Given the description of an element on the screen output the (x, y) to click on. 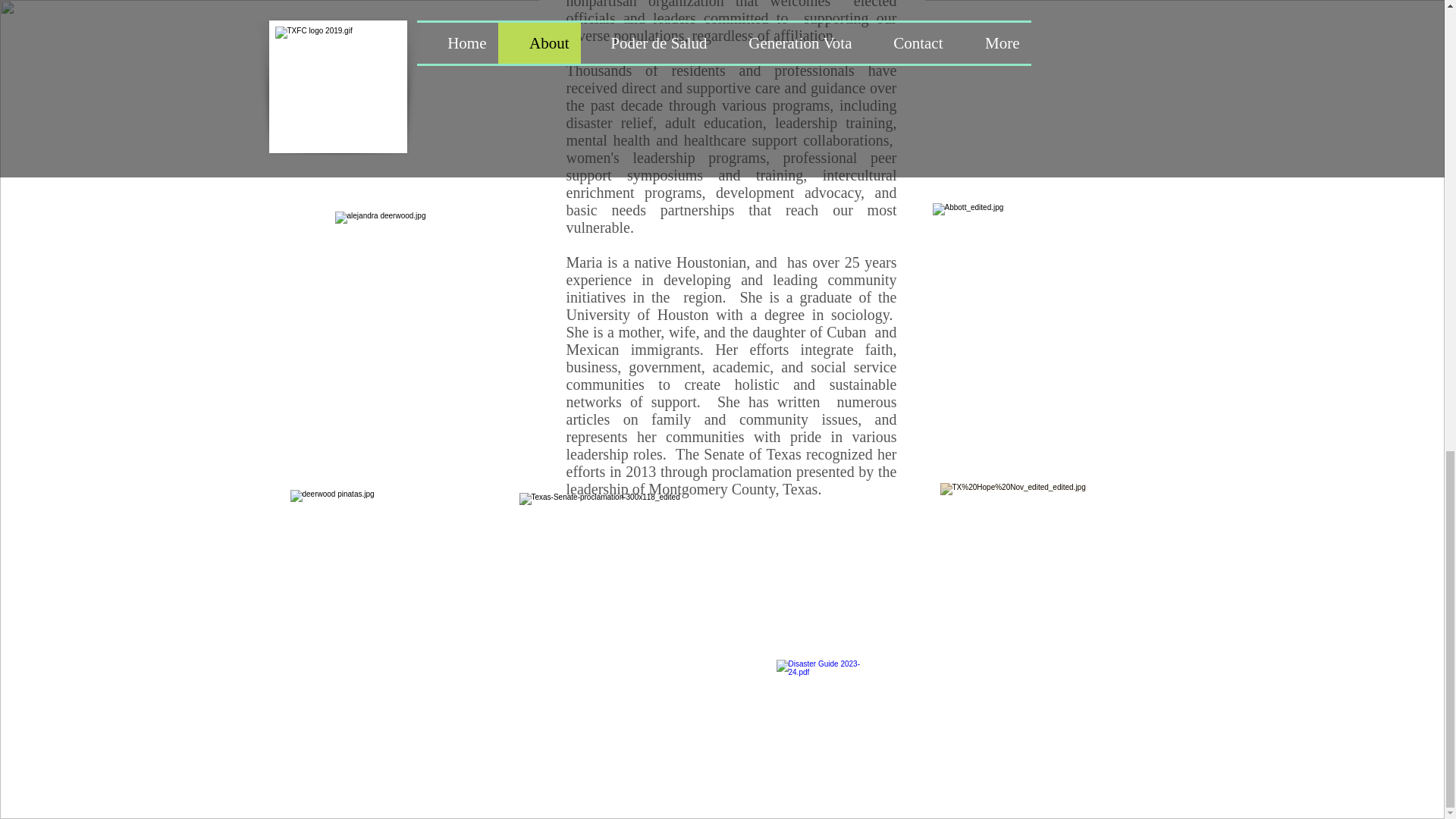
Disaster Guide 2023-24.pdf (820, 721)
